Given the description of an element on the screen output the (x, y) to click on. 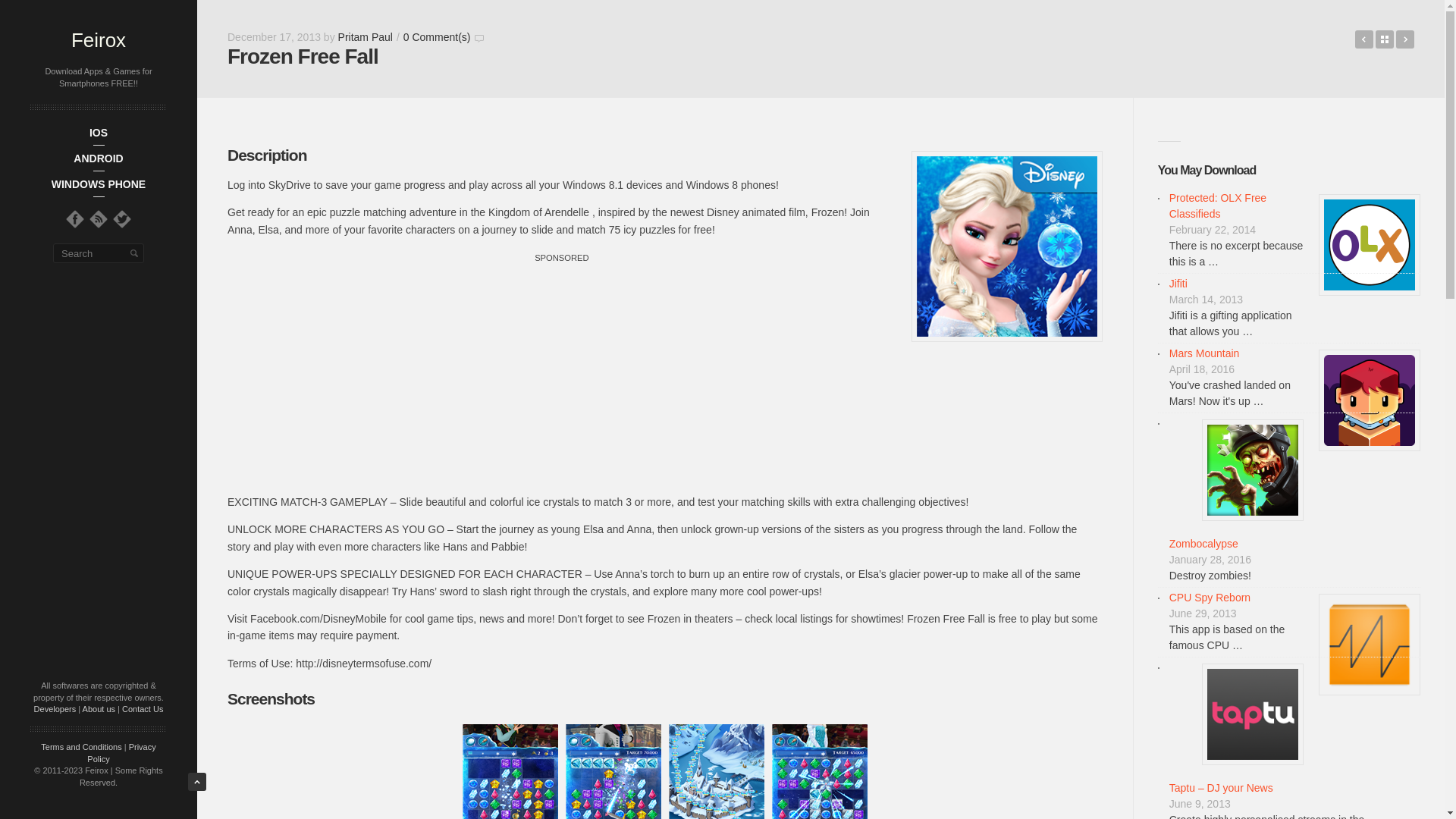
Feirox (98, 40)
Advertisement (560, 372)
View all posts by Pritam Paul (365, 37)
Feirox (98, 40)
ANDROID (98, 158)
IOS (98, 132)
Skip to primary content (147, 136)
Follow us on Facebook (74, 218)
Follow us on Twitter (122, 218)
Follow us on RSS (97, 218)
Skip to primary content (147, 136)
Back to Blog (1384, 39)
Search (133, 252)
